Given the description of an element on the screen output the (x, y) to click on. 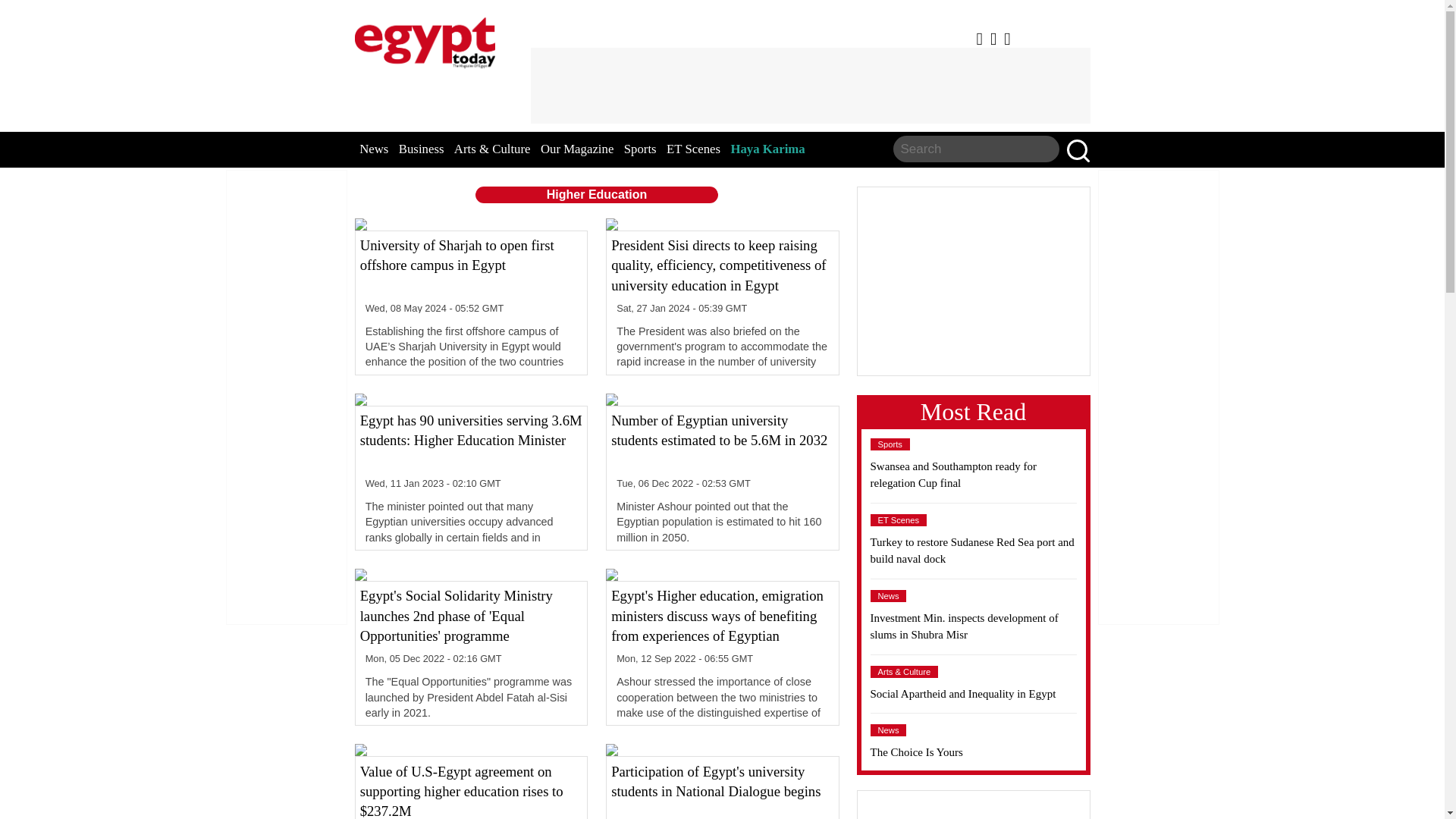
Business (421, 149)
University of Sharjah to open first offshore campus in Egypt (470, 265)
EgyptToday (425, 39)
ET Scenes (693, 149)
Our Magazine (576, 149)
Haya Karima (767, 149)
Sports (640, 149)
